Given the description of an element on the screen output the (x, y) to click on. 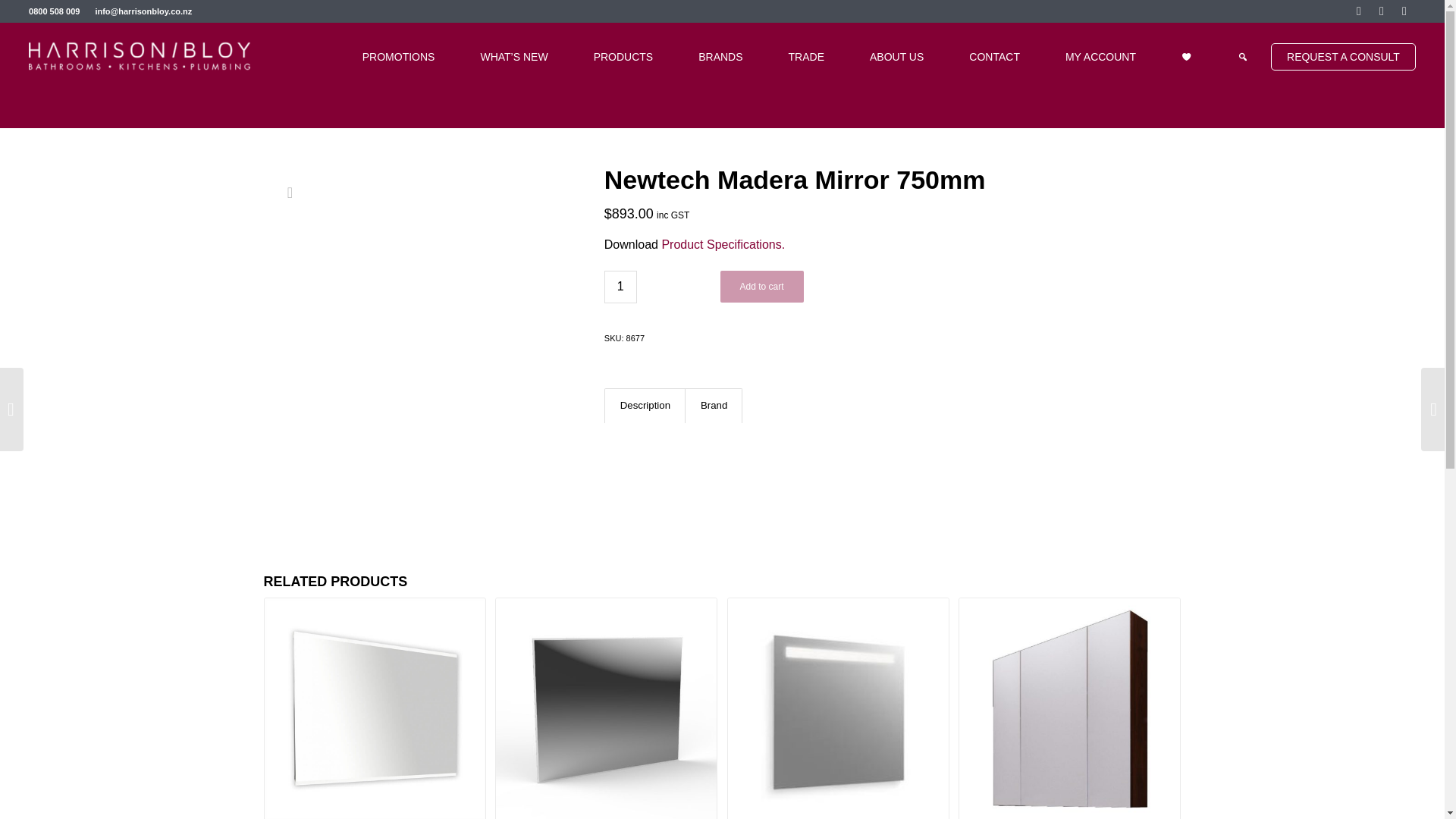
0800 508 009 (54, 11)
Instagram (1381, 11)
Facebook (1359, 11)
LinkedIn (1404, 11)
PROMOTIONS (398, 56)
PRODUCTS (623, 56)
1 (620, 287)
